Given the description of an element on the screen output the (x, y) to click on. 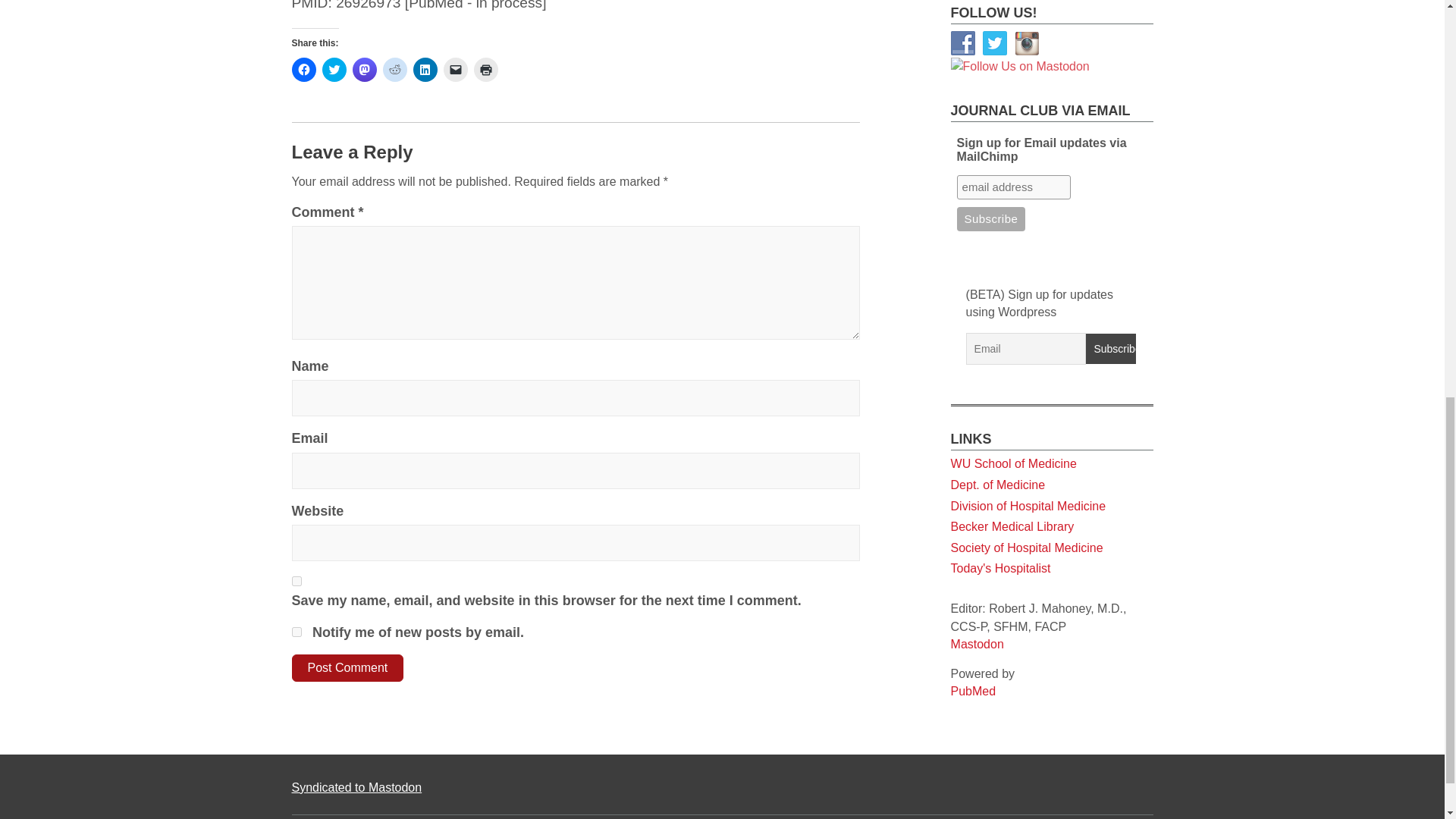
Click to share on Twitter (333, 69)
Click to email a link to a friend (454, 69)
yes (296, 581)
Click to share on LinkedIn (424, 69)
Dept. of Medicine (997, 59)
Click to print (485, 69)
subscribe (296, 632)
Click to share on Mastodon (363, 69)
Society of Hospital Medicine (1026, 122)
Click to share on Facebook (303, 69)
Division of Hospital Medicine (1028, 80)
Post Comment (347, 667)
Becker Medical Library (1012, 101)
Click to share on Reddit (393, 69)
Post Comment (347, 667)
